Given the description of an element on the screen output the (x, y) to click on. 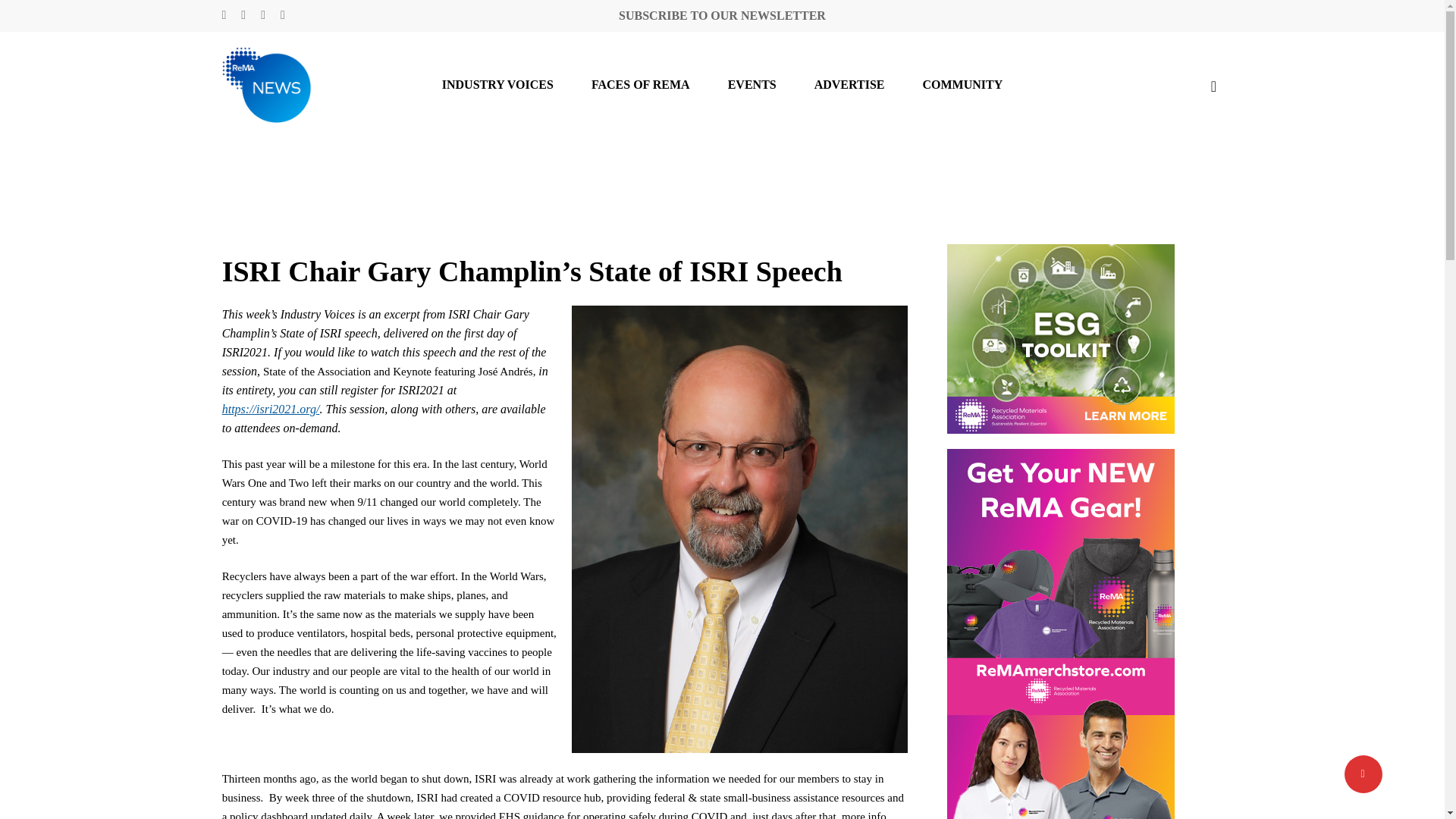
SUBSCRIBE TO OUR NEWSLETTER (721, 15)
EVENTS (752, 84)
ADVERTISE (849, 84)
COMMUNITY (962, 84)
INDUSTRY VOICES (497, 84)
FACES OF REMA (640, 84)
